Given the description of an element on the screen output the (x, y) to click on. 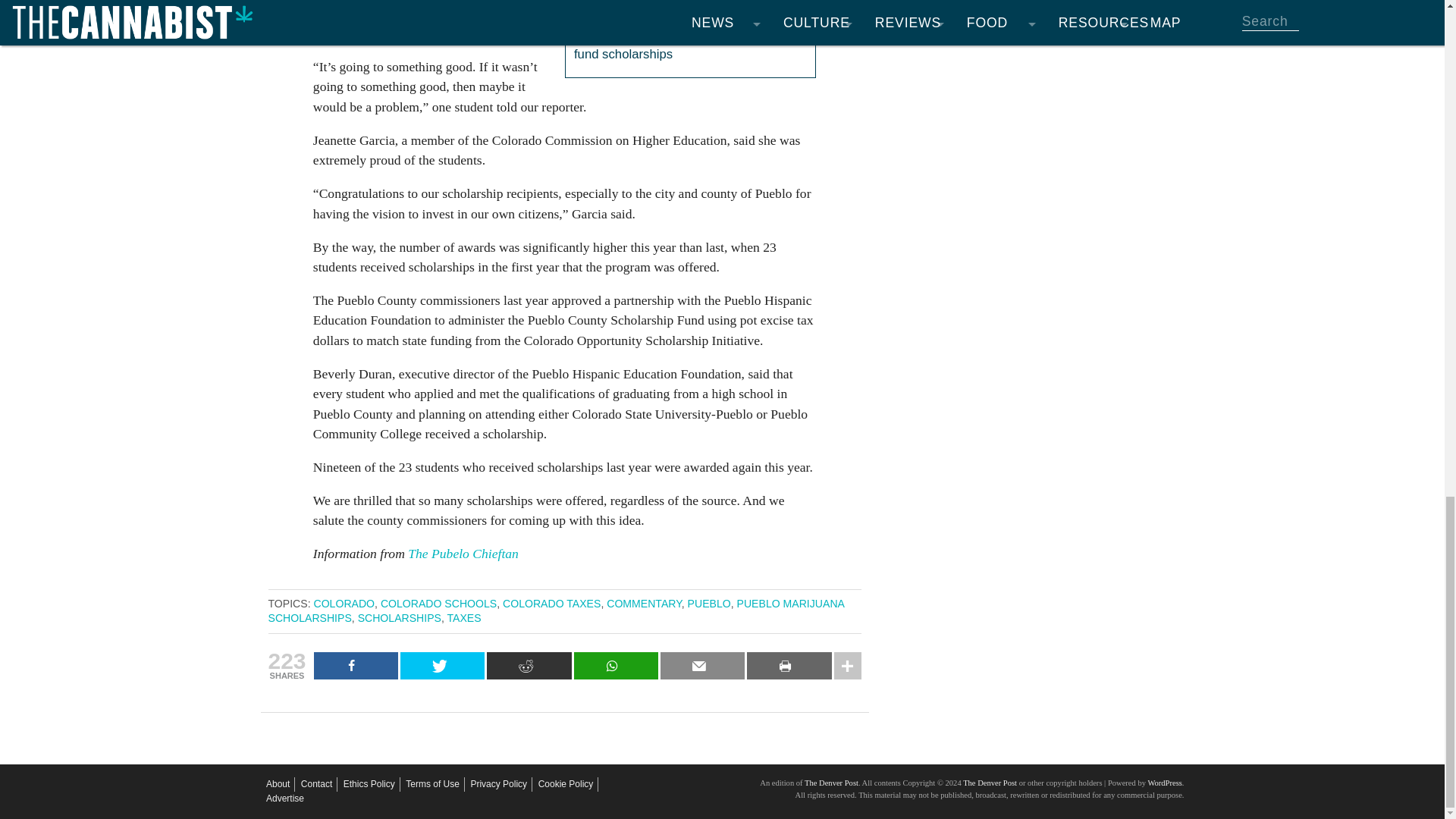
Contact The Cannabist (316, 784)
The Denver Post (832, 782)
Denver Post Terms of Use (433, 784)
Denver Post Ethics Policy (368, 784)
The Denver Post (989, 782)
Advertise on The Cannabist (285, 798)
About The Cannabist (277, 784)
Denver Post Privacy Policy (498, 784)
Personal Publishing Platform (1163, 782)
